Given the description of an element on the screen output the (x, y) to click on. 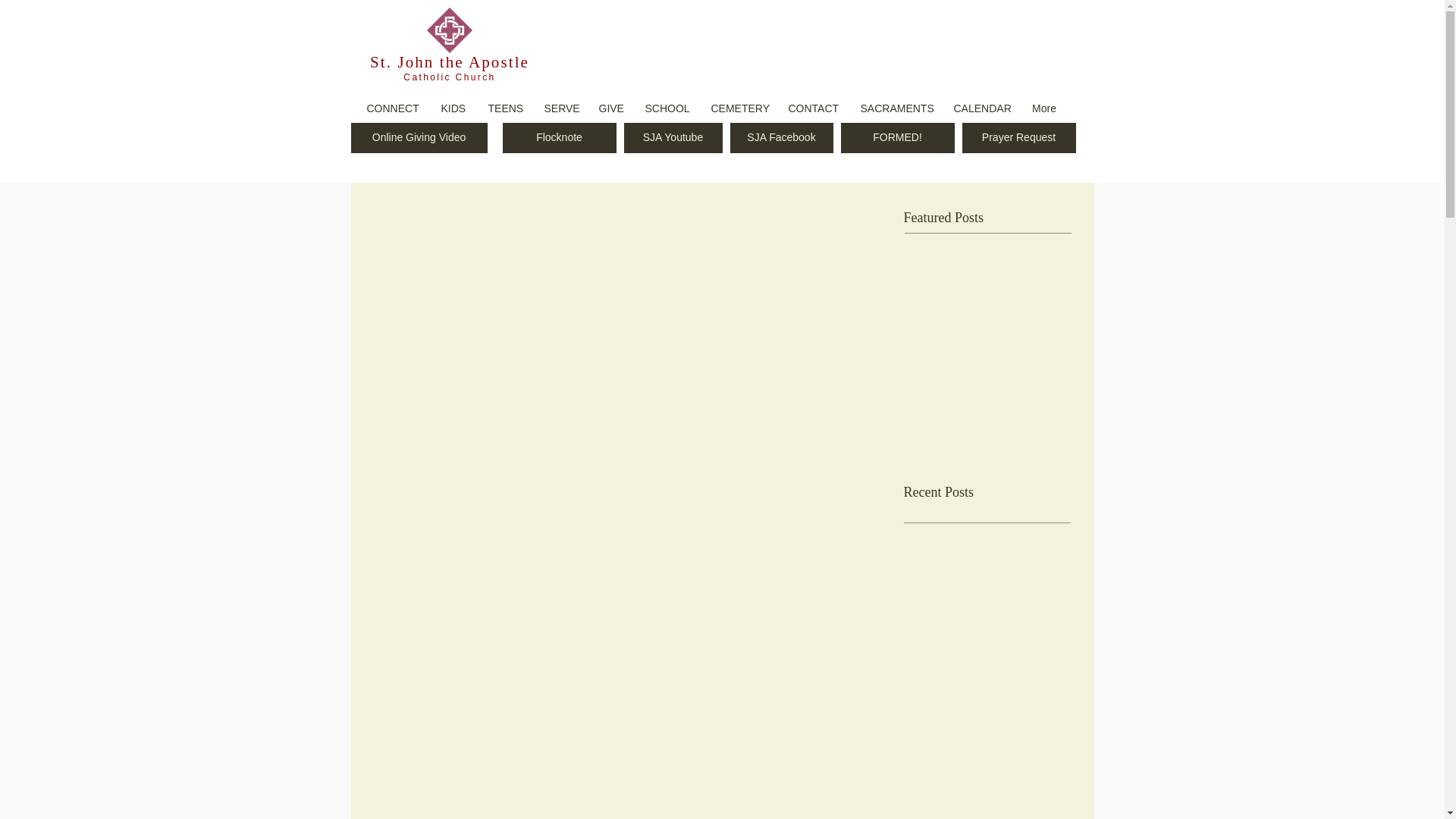
SACRAMENTS (895, 108)
CONTACT (812, 108)
FORMED! (896, 137)
St. John the Apostle (449, 62)
SJA Youtube (672, 137)
Online Giving Video (418, 137)
Flocknote (558, 137)
TEENS (504, 108)
CEMETERY (737, 108)
CALENDAR (980, 108)
SJA Facebook (780, 137)
KIDS (452, 108)
SERVE (559, 108)
CONNECT (392, 108)
GIVE (609, 108)
